Given the description of an element on the screen output the (x, y) to click on. 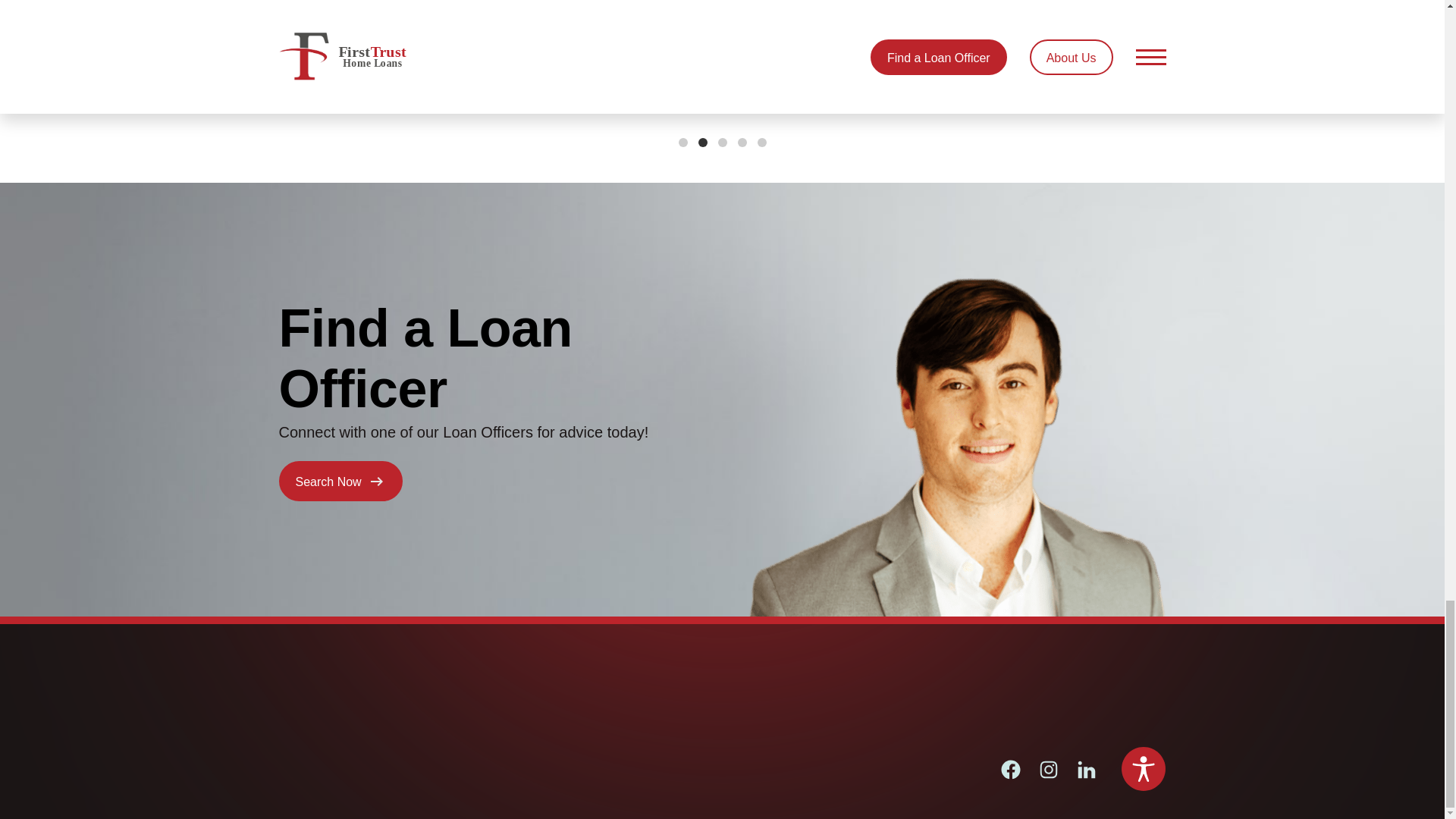
Search Now (341, 481)
